Given the description of an element on the screen output the (x, y) to click on. 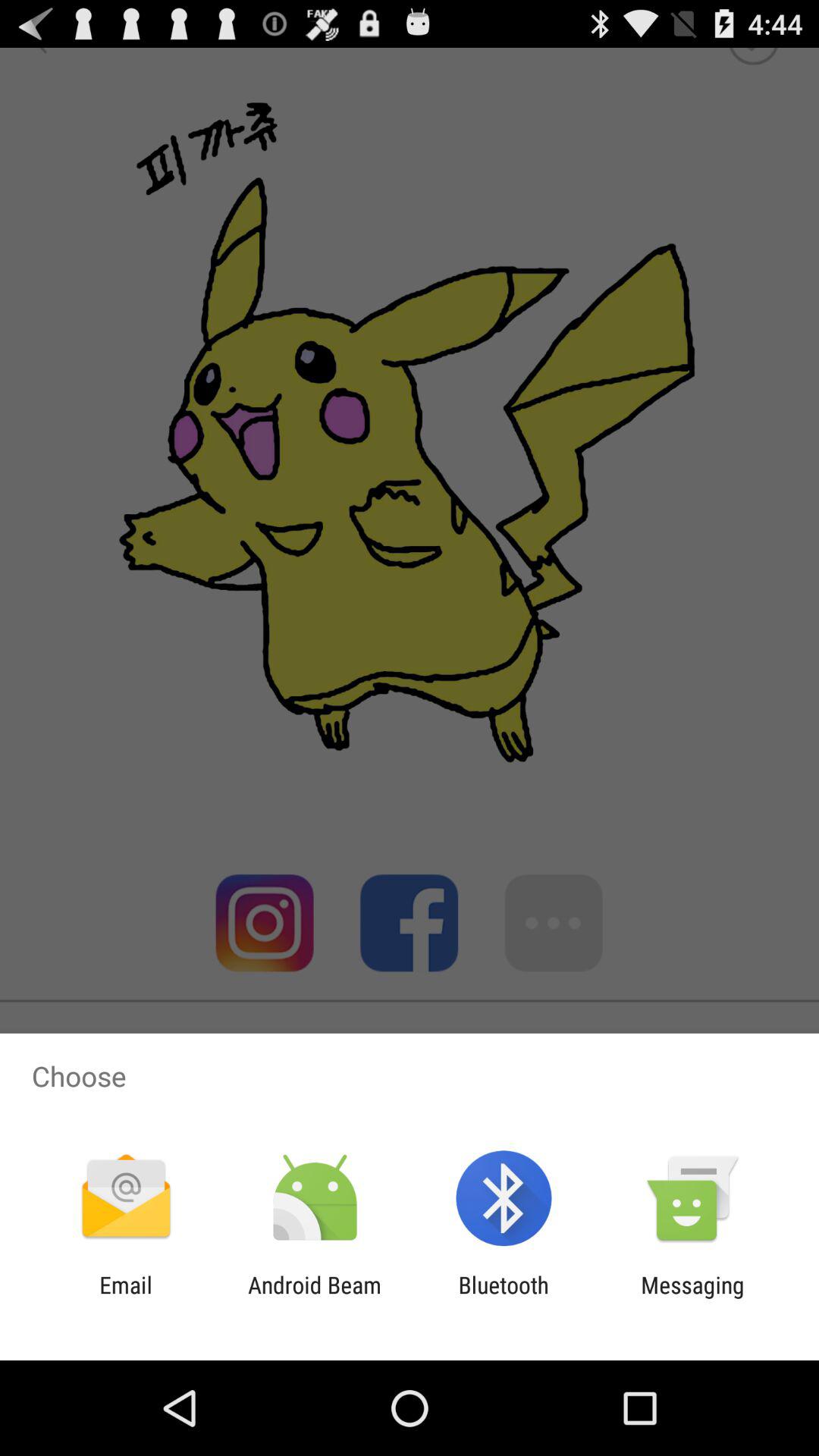
turn on the icon to the right of the email item (314, 1298)
